Given the description of an element on the screen output the (x, y) to click on. 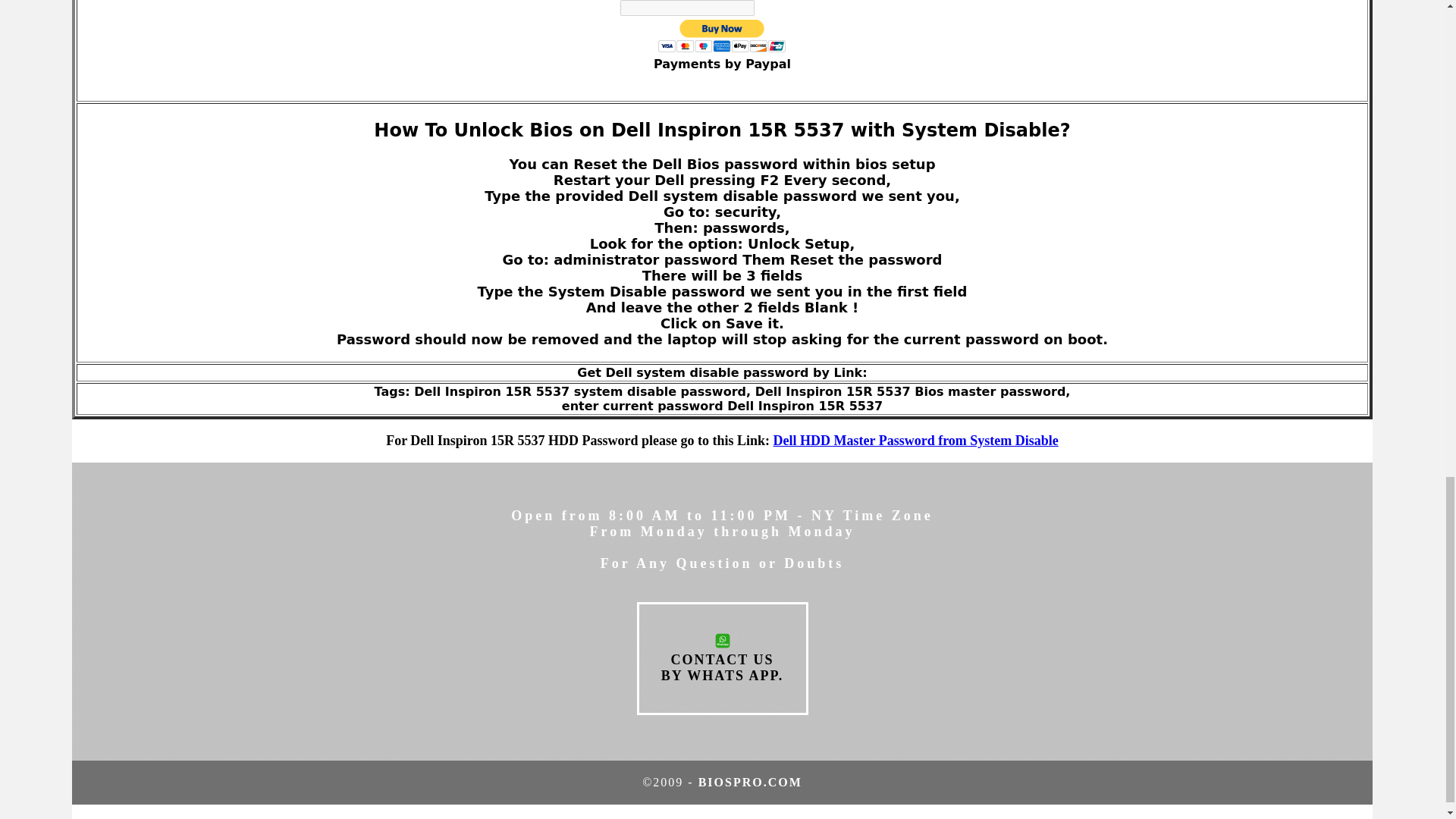
PayPal - The safer, easier way to pay online! (722, 36)
unlock HDD with System Disable (915, 440)
Dell HDD Master Password from System Disable (915, 440)
